Given the description of an element on the screen output the (x, y) to click on. 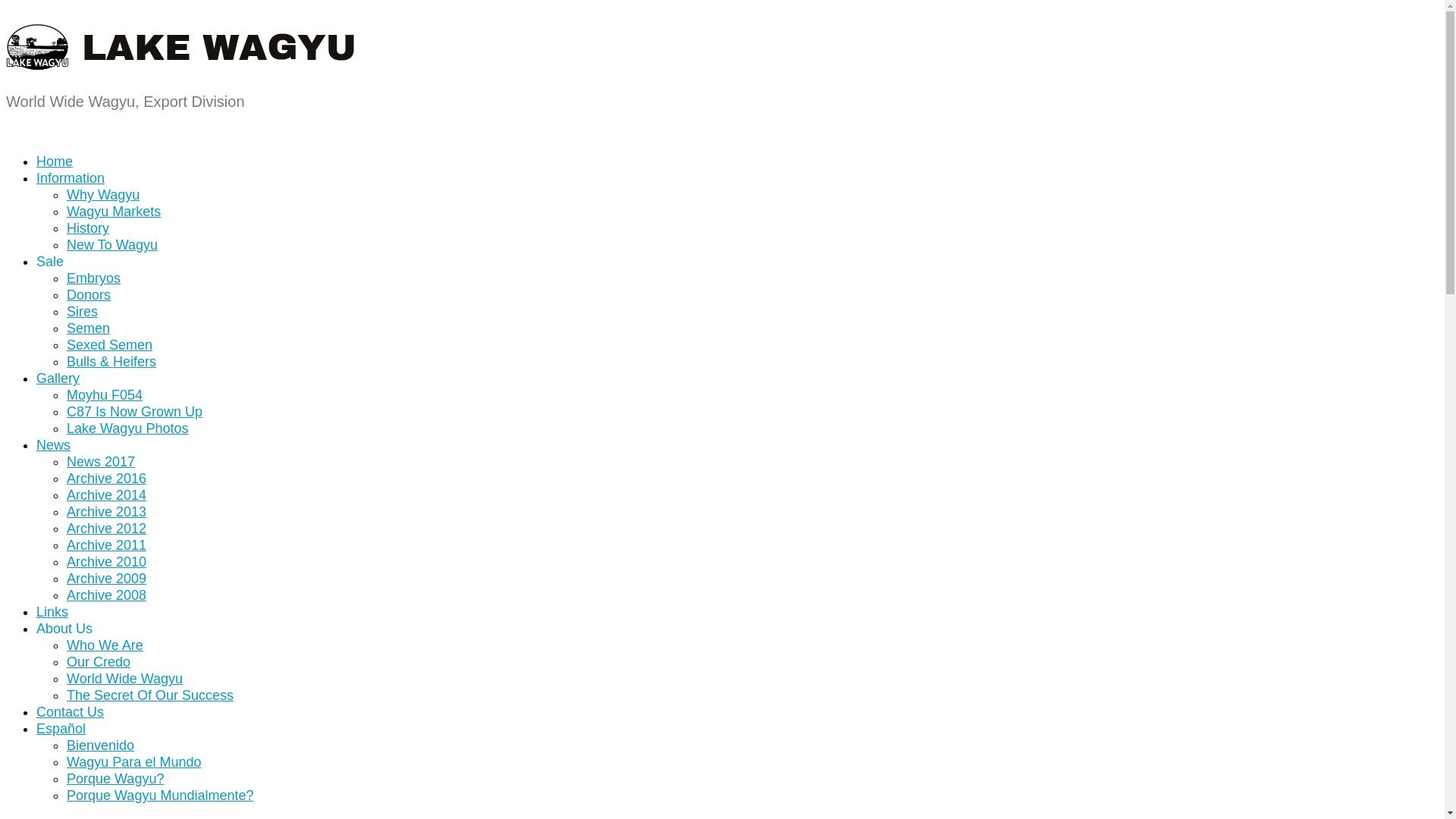
Our Credo Element type: text (98, 661)
News 2017 Element type: text (100, 461)
Archive 2008 Element type: text (106, 594)
Wagyu Para el Mundo Element type: text (133, 761)
Semen Element type: text (87, 327)
Porque Wagyu Mundialmente? Element type: text (159, 795)
Archive 2014 Element type: text (106, 494)
Archive 2013 Element type: text (106, 511)
C87 Is Now Grown Up Element type: text (134, 411)
News Element type: text (53, 444)
Home Element type: text (54, 161)
Contact Us Element type: text (69, 711)
Why Wagyu Element type: text (102, 194)
Information Element type: text (70, 177)
The Secret Of Our Success Element type: text (149, 694)
Wagyu Markets Element type: text (113, 211)
Archive 2010 Element type: text (106, 561)
New To Wagyu Element type: text (111, 244)
Sale Element type: text (49, 261)
Moyhu F054 Element type: text (104, 394)
Archive 2016 Element type: text (106, 478)
Sexed Semen Element type: text (109, 344)
Who We Are Element type: text (104, 644)
Porque Wagyu? Element type: text (114, 778)
Lake Wagyu Photos Element type: text (127, 428)
LAKE WAGYU Element type: hover (181, 57)
Links Element type: text (52, 611)
World Wide Wagyu Element type: text (124, 678)
Bulls & Heifers Element type: text (111, 361)
Gallery Element type: text (57, 377)
History Element type: text (87, 227)
Embryos Element type: text (93, 277)
Sires Element type: text (81, 311)
About Us Element type: text (64, 628)
Bienvenido Element type: text (100, 745)
Archive 2009 Element type: text (106, 578)
Archive 2011 Element type: text (106, 544)
Archive 2012 Element type: text (106, 528)
Donors Element type: text (88, 294)
